Given the description of an element on the screen output the (x, y) to click on. 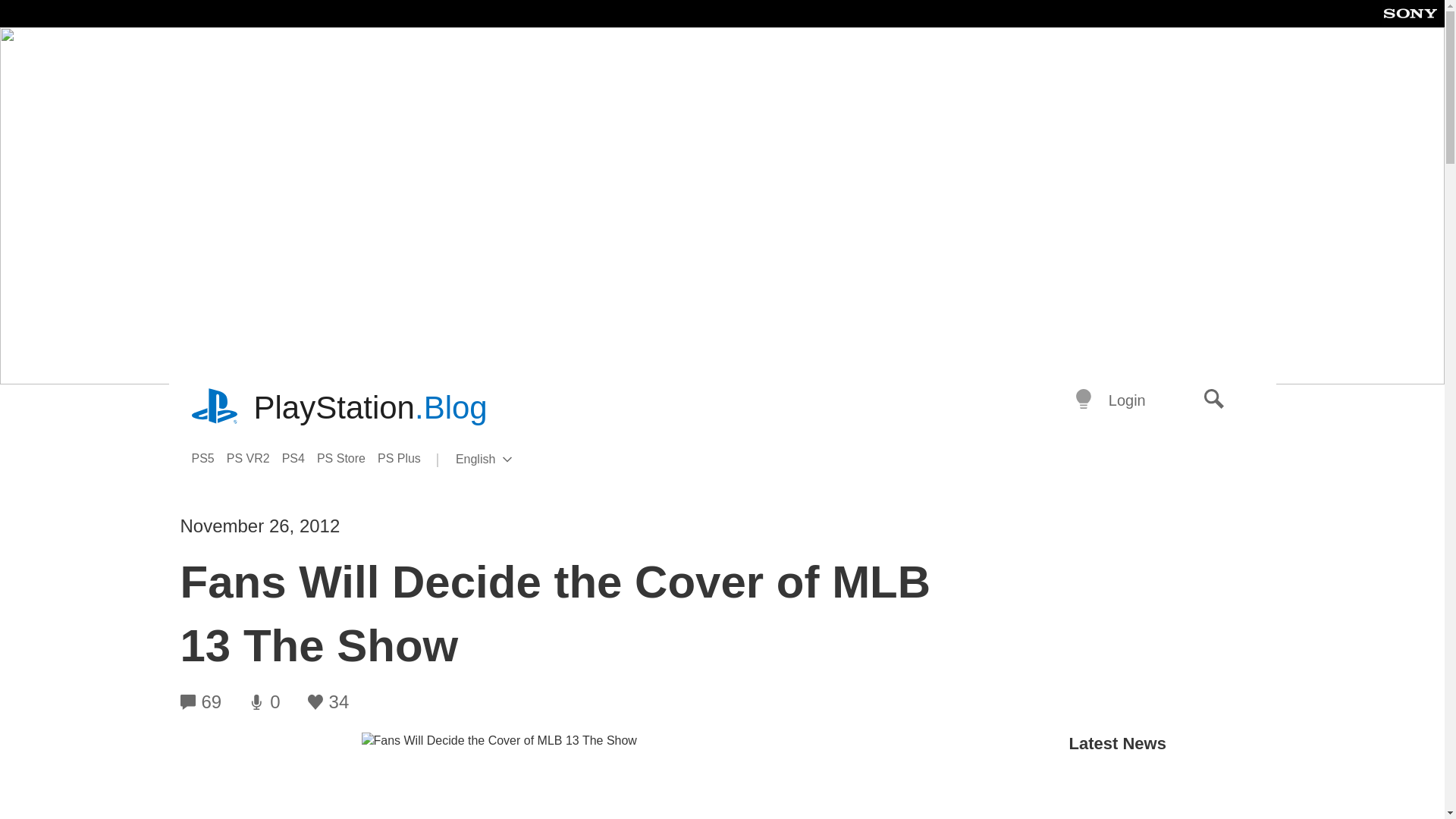
PlayStation.Blog (369, 407)
PS4 (299, 458)
PS5 (207, 458)
PS Plus (404, 458)
Search (1214, 400)
PS Store (347, 458)
playstation.com (215, 408)
Login (508, 459)
